Given the description of an element on the screen output the (x, y) to click on. 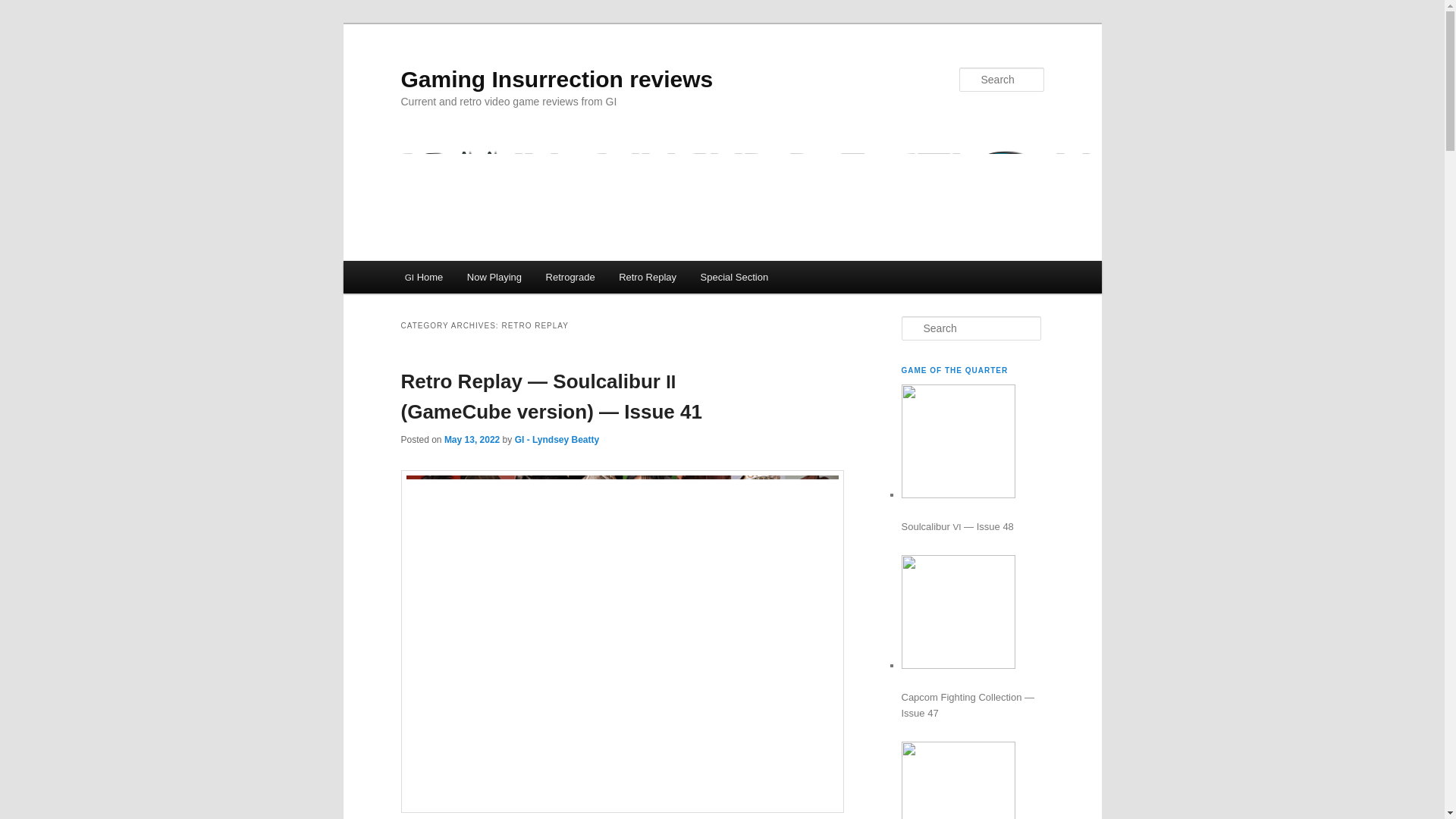
Retro Replay (647, 277)
Gaming Insurrection reviews (556, 78)
Special Section (734, 277)
Retrograde (570, 277)
May 13, 2022 (471, 439)
Search (24, 8)
Now Playing (494, 277)
GI Home (423, 277)
6:30 PM (471, 439)
View all posts by GI - Lyndsey Beatty (557, 439)
GI - Lyndsey Beatty (557, 439)
